Given the description of an element on the screen output the (x, y) to click on. 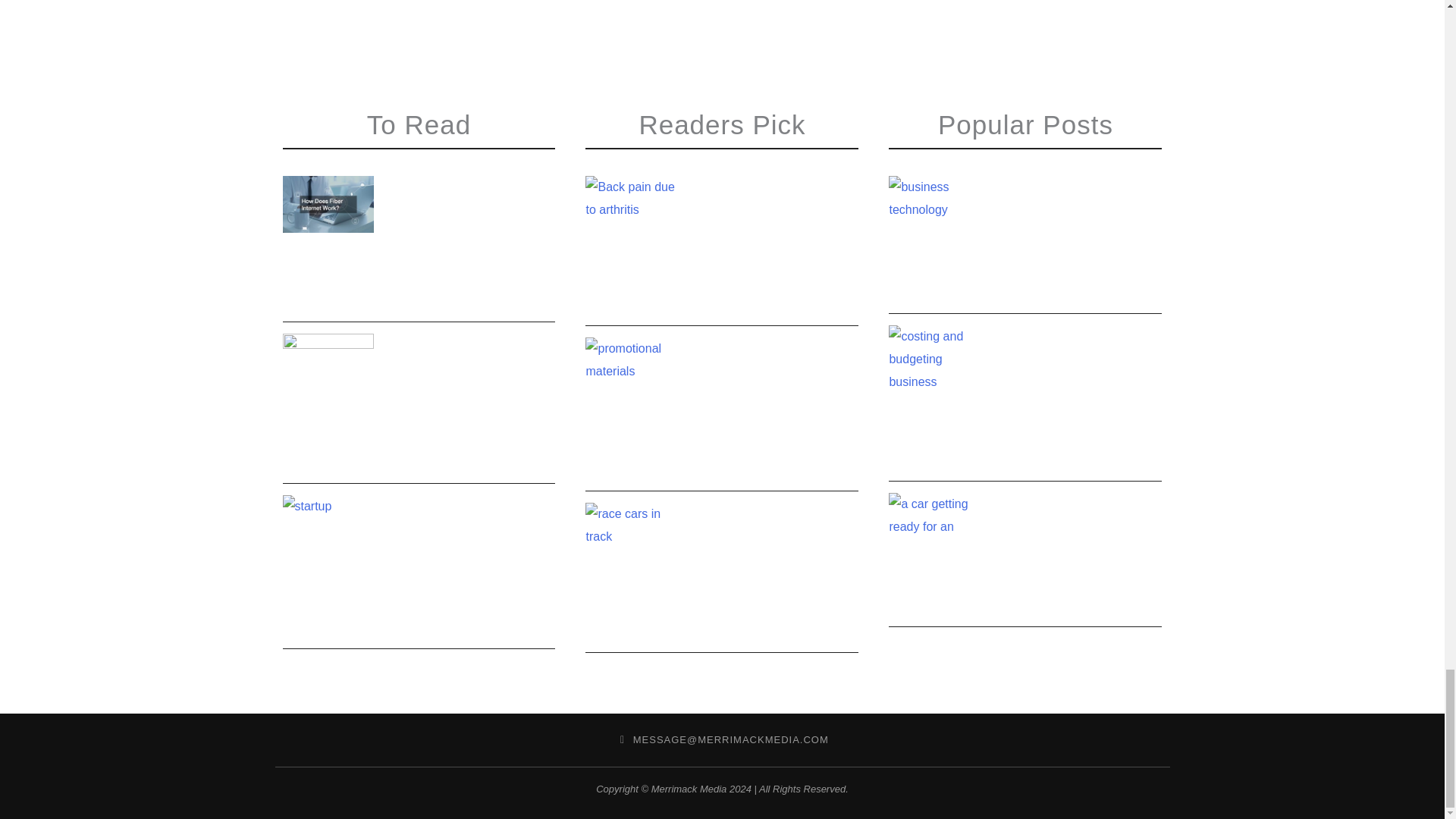
How Does Fiber Internet Work? (470, 192)
